Given the description of an element on the screen output the (x, y) to click on. 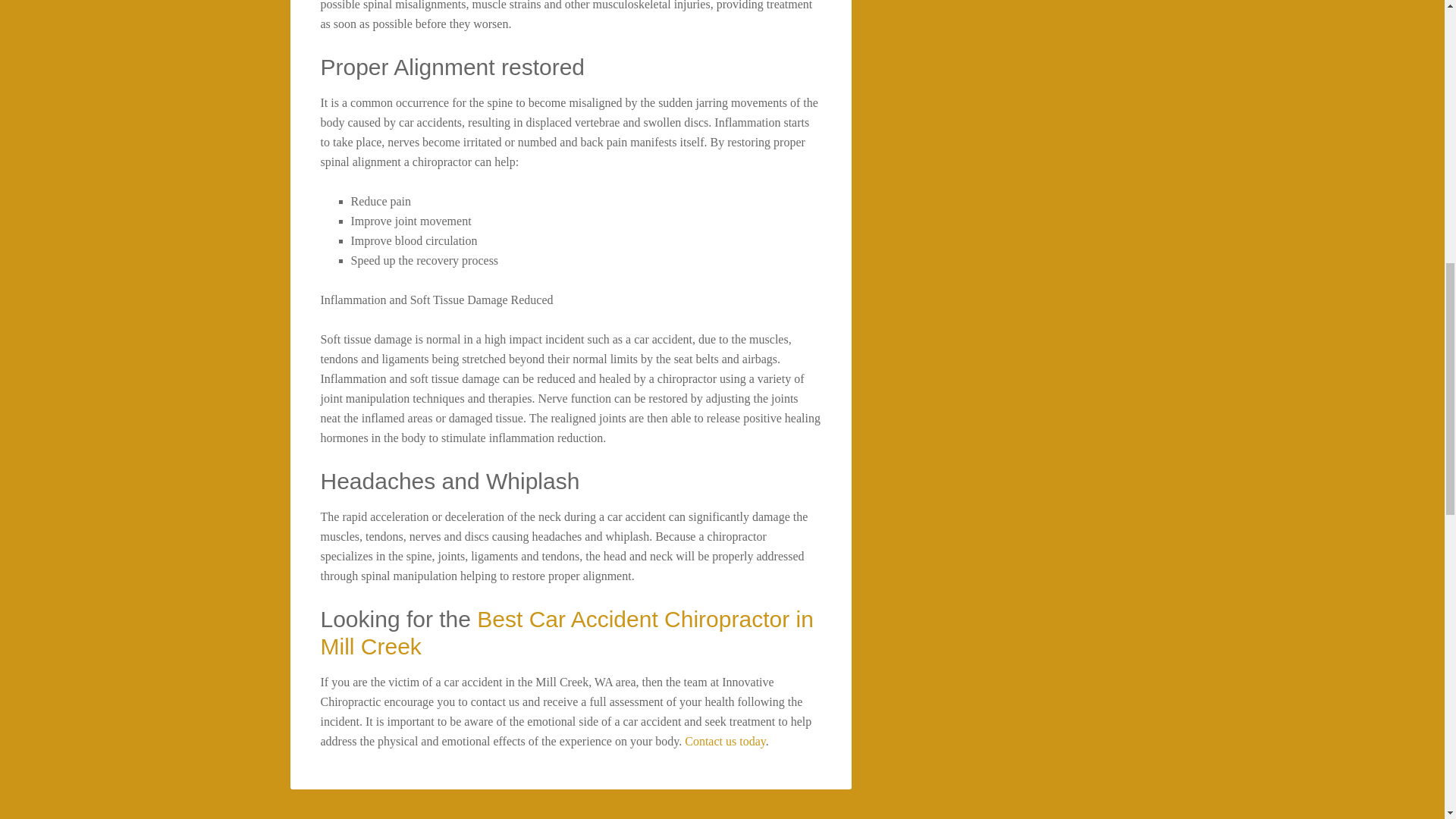
Best Car Accident Chiropractor in Mill Creek (566, 632)
Contact us today (724, 740)
